Given the description of an element on the screen output the (x, y) to click on. 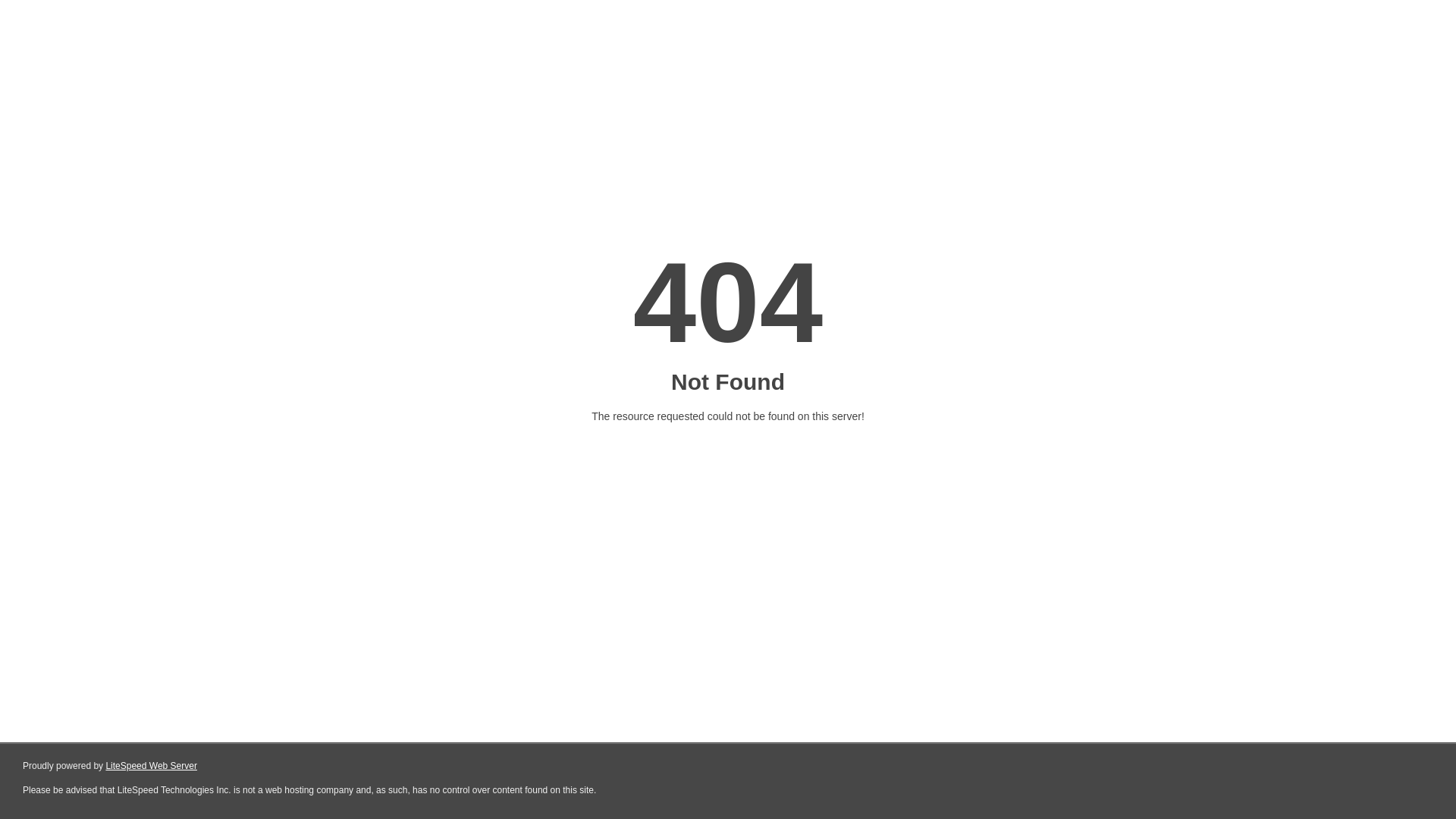
LiteSpeed Web Server Element type: text (151, 765)
